Given the description of an element on the screen output the (x, y) to click on. 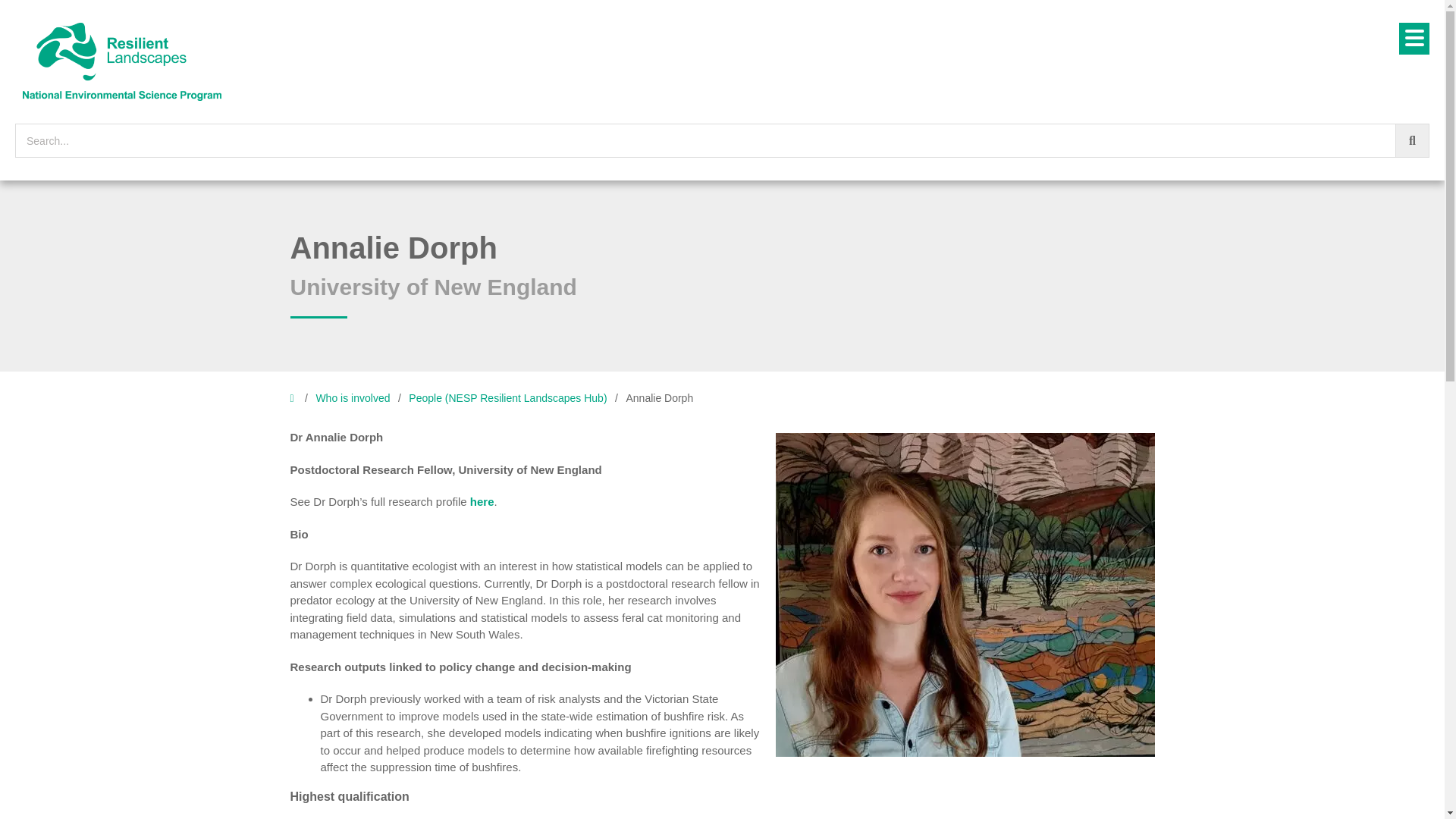
Who is involved (352, 398)
